Given the description of an element on the screen output the (x, y) to click on. 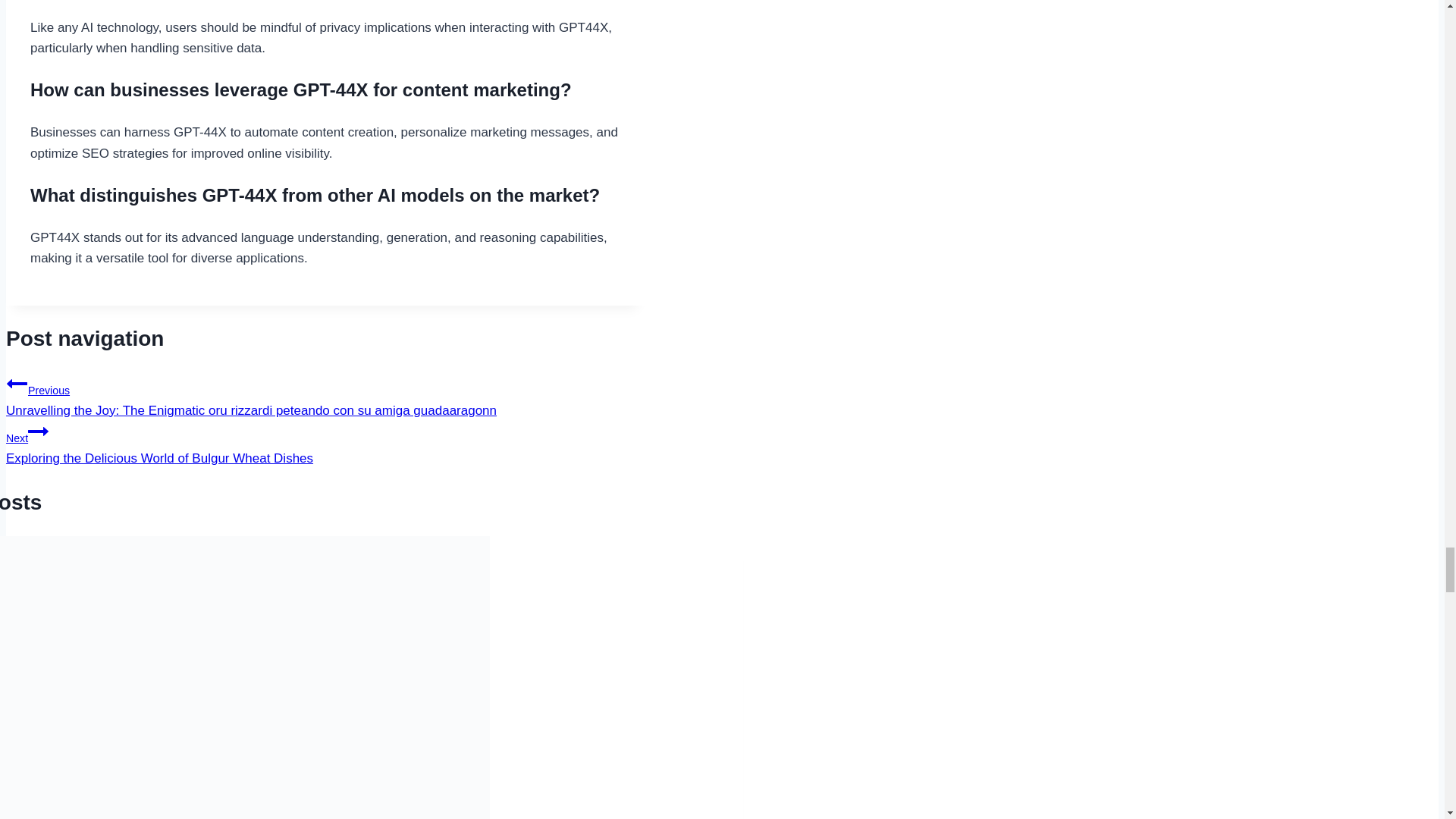
Continue (37, 431)
Previous (16, 383)
